Given the description of an element on the screen output the (x, y) to click on. 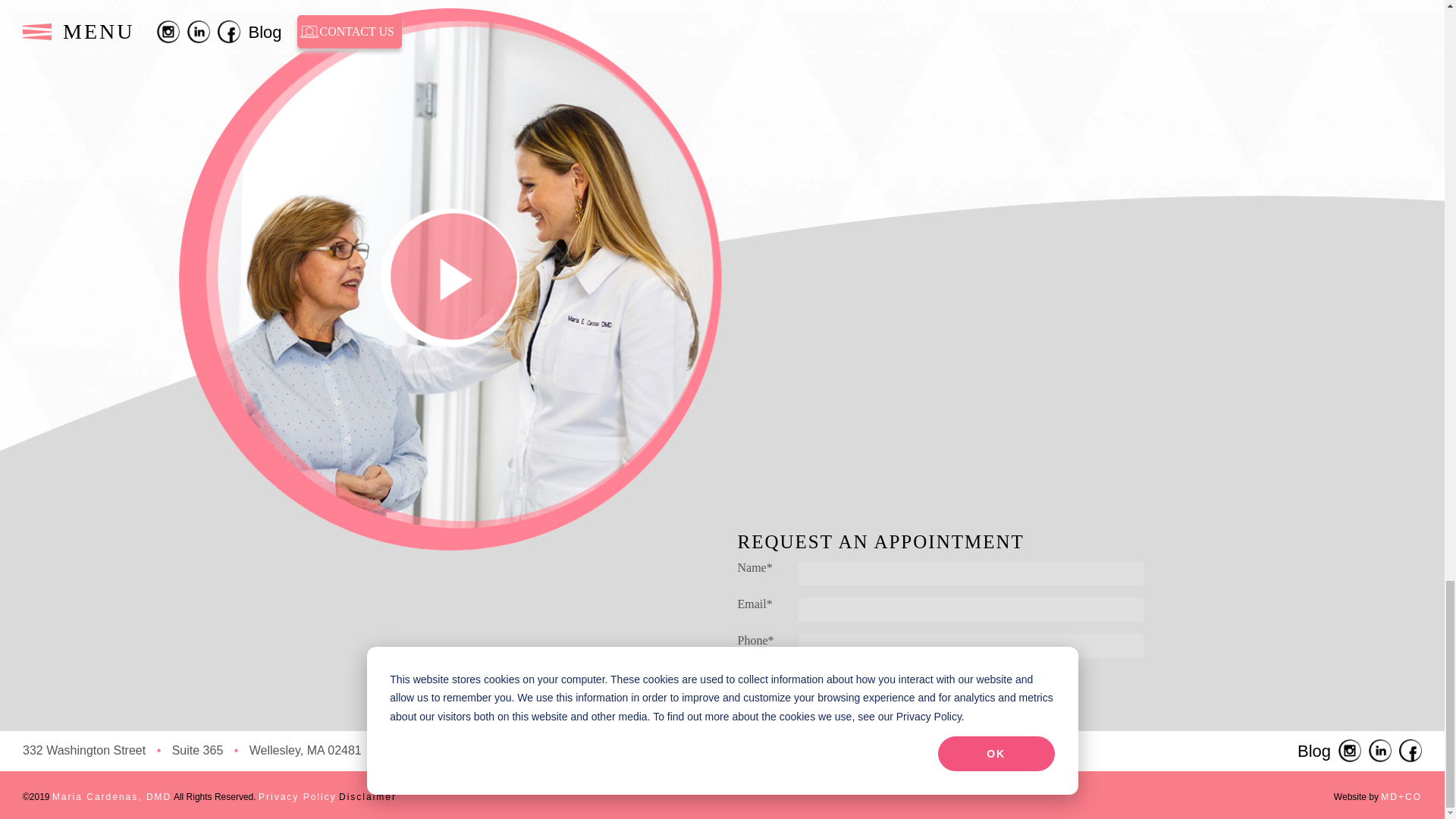
true (806, 677)
Book Appointment (874, 704)
